Given the description of an element on the screen output the (x, y) to click on. 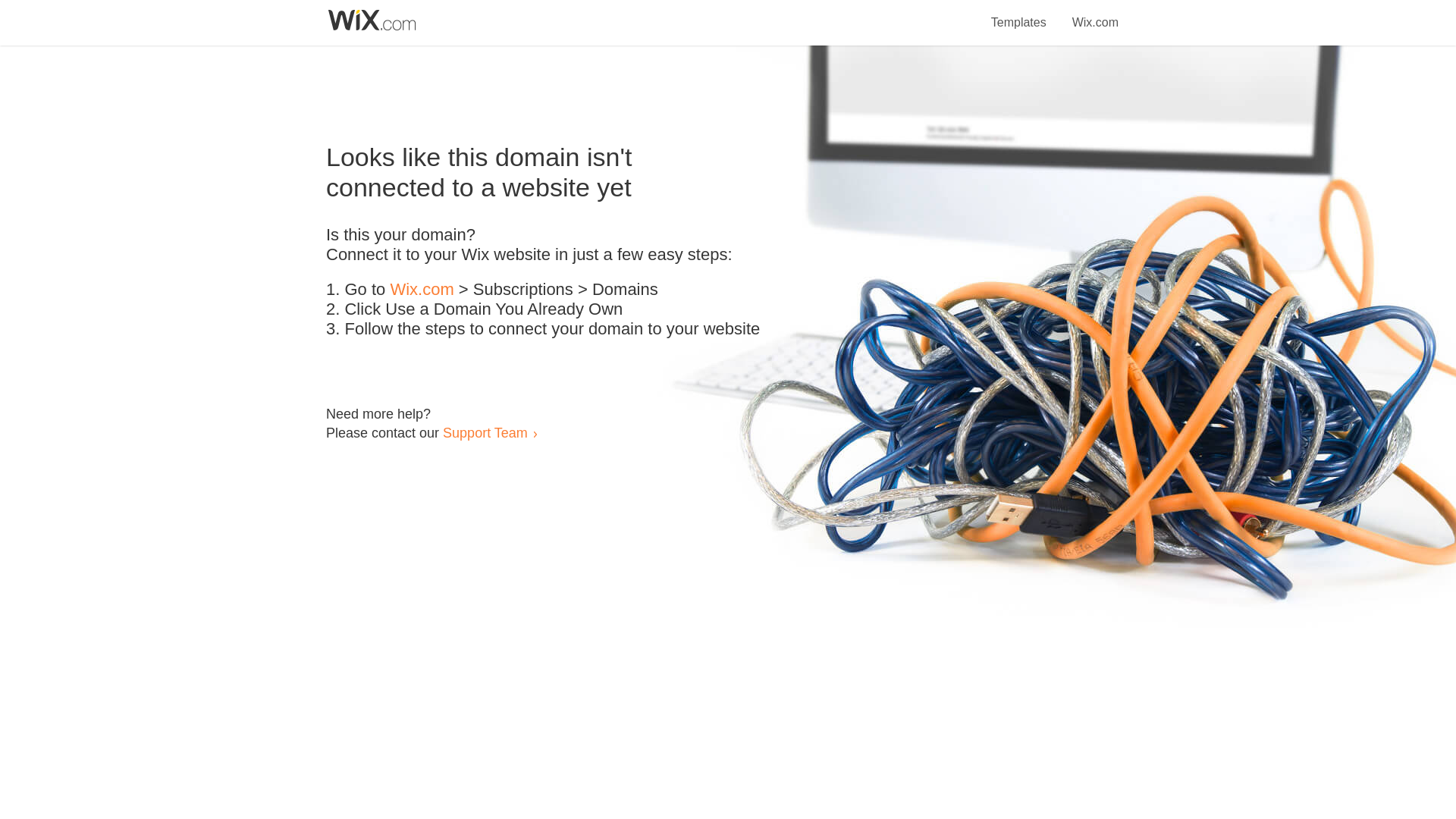
Templates (1018, 14)
Wix.com (421, 289)
Wix.com (1095, 14)
Support Team (484, 432)
